Given the description of an element on the screen output the (x, y) to click on. 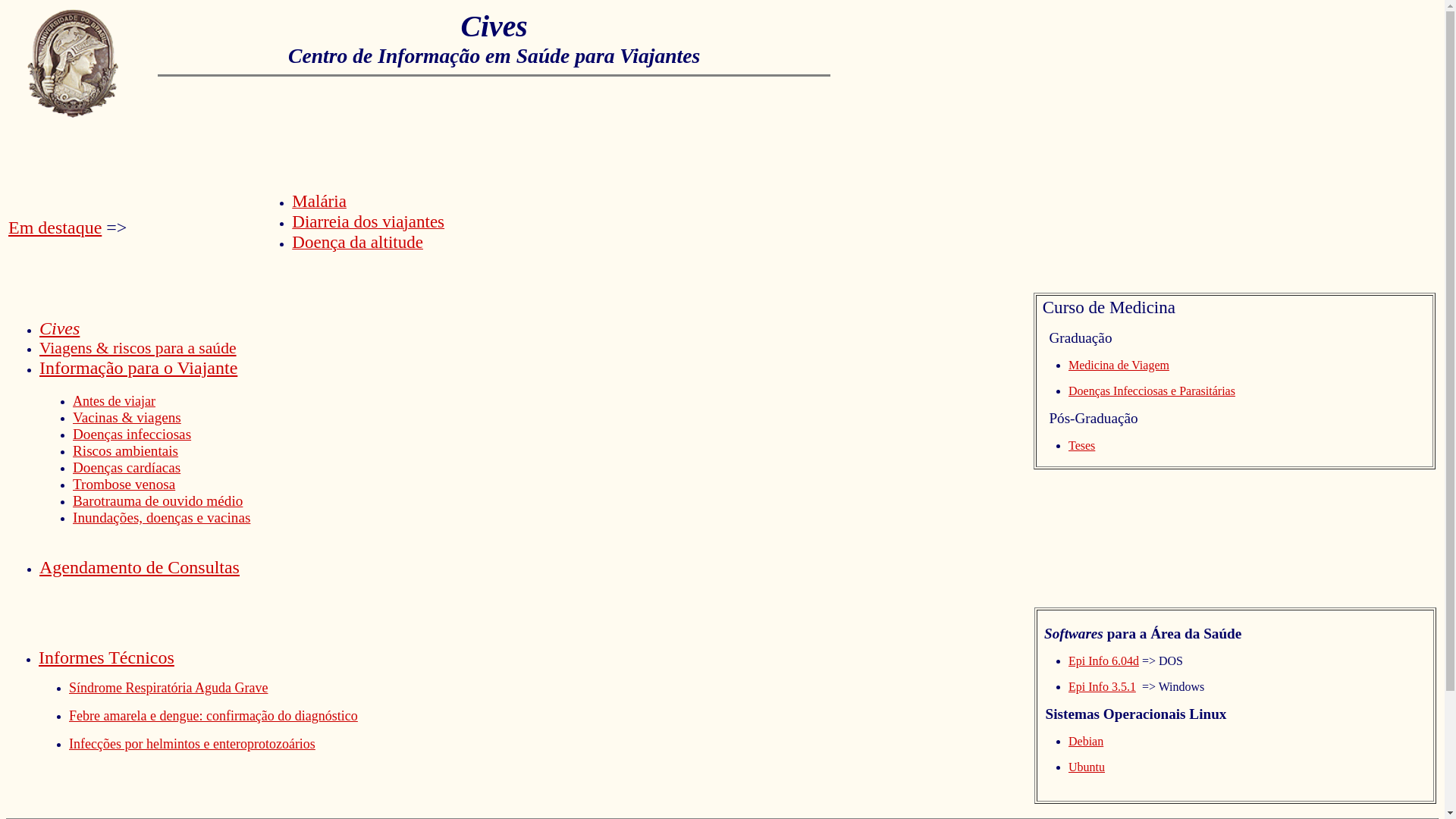
Debian Element type: text (1085, 740)
Em destaque Element type: text (54, 226)
Epi Info 3.5.1 Element type: text (1101, 685)
Vacinas & viagens Element type: text (126, 417)
Trombose venosa Element type: text (123, 484)
Cives Element type: text (59, 328)
Agendamento de Consultas Element type: text (139, 567)
Medicina de Viagem Element type: text (1118, 364)
Teses Element type: text (1081, 445)
Riscos ambientais Element type: text (125, 450)
Diarreia dos viajantes Element type: text (367, 222)
Ubuntu Element type: text (1086, 765)
Epi Info 6.04d Element type: text (1103, 659)
Antes de viajar Element type: text (113, 400)
